Given the description of an element on the screen output the (x, y) to click on. 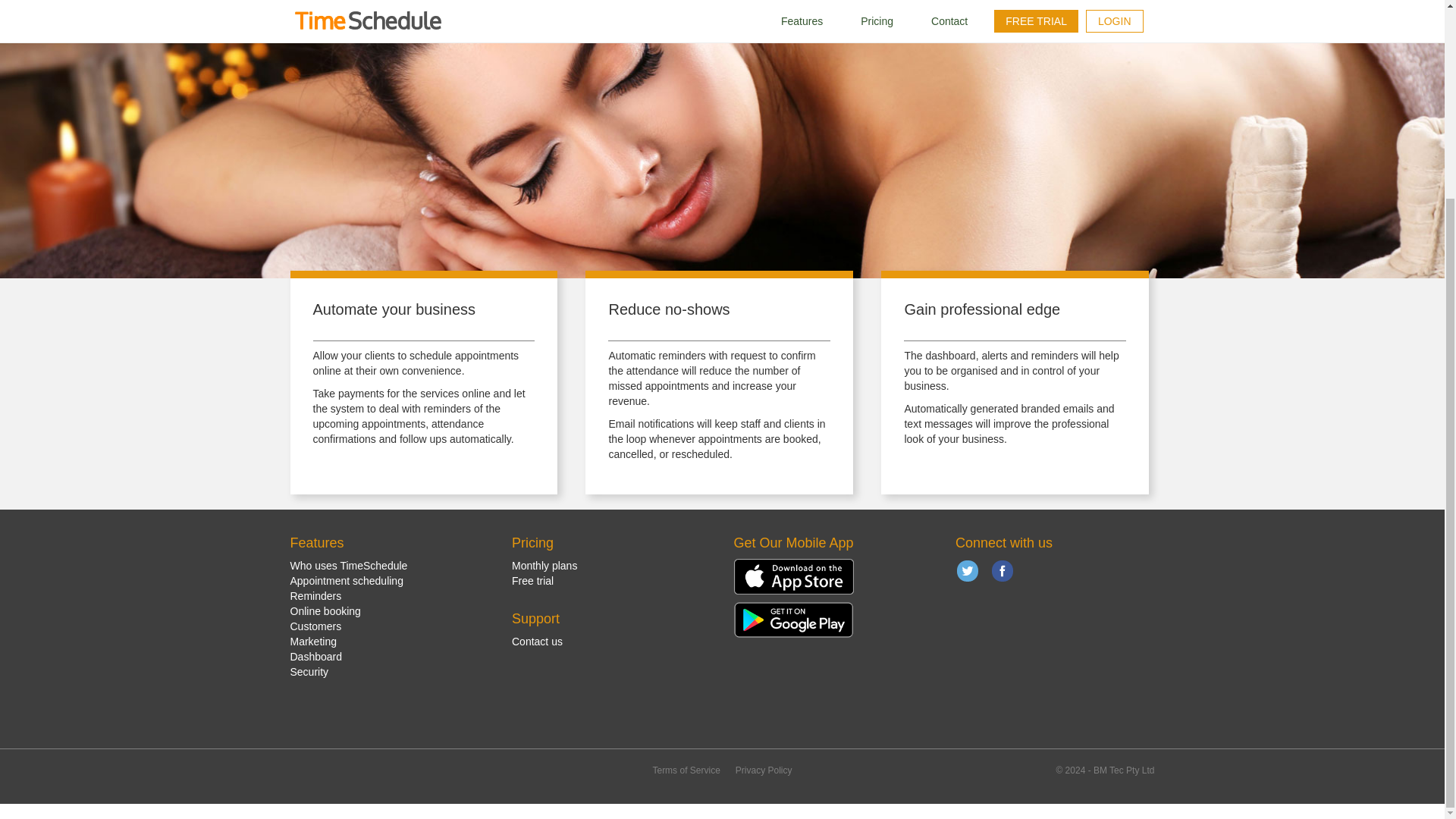
Appointment scheduling (346, 580)
Reduce no-shows (668, 309)
Dashboard (315, 656)
Contact us (537, 641)
Free trial (532, 580)
Terms of Service (685, 769)
Security (309, 671)
Marketing (312, 641)
Monthly plans (544, 565)
Start Free Trial Now (362, 3)
Privacy Policy (763, 769)
Gain professional edge (981, 309)
Online booking (324, 611)
Reminders (314, 595)
Automate your business (394, 309)
